Given the description of an element on the screen output the (x, y) to click on. 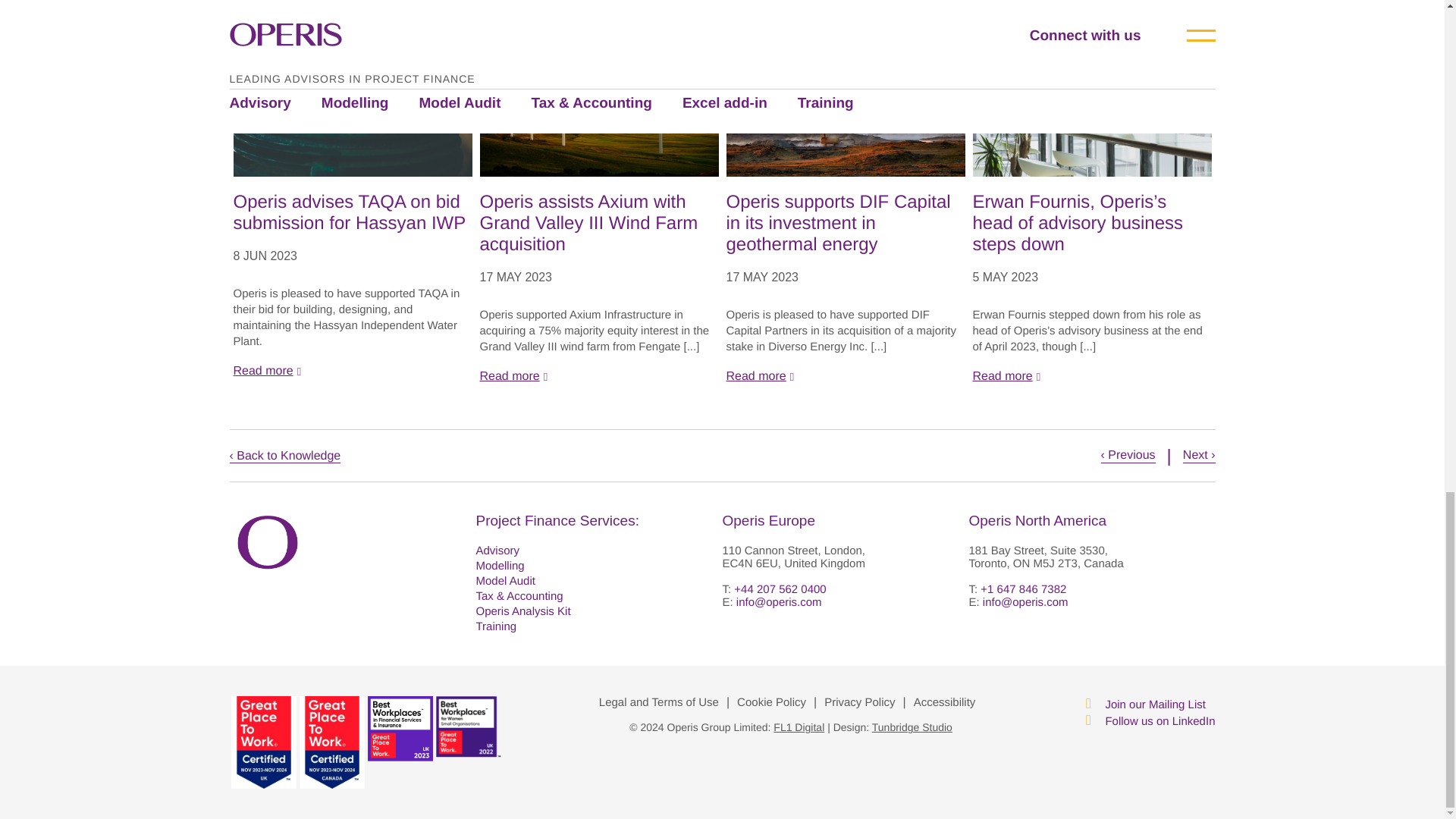
Full details (598, 377)
Read more (351, 371)
Operis advises TAQA on bid submission for Hassyan IWP (351, 100)
Full details (351, 371)
Operis advises TAQA on bid submission for Hassyan IWP (351, 212)
Operis advises TAQA on bid submission for Hassyan IWP (351, 212)
Full details (845, 377)
Full details (1091, 377)
LinkedIn (1147, 720)
